Given the description of an element on the screen output the (x, y) to click on. 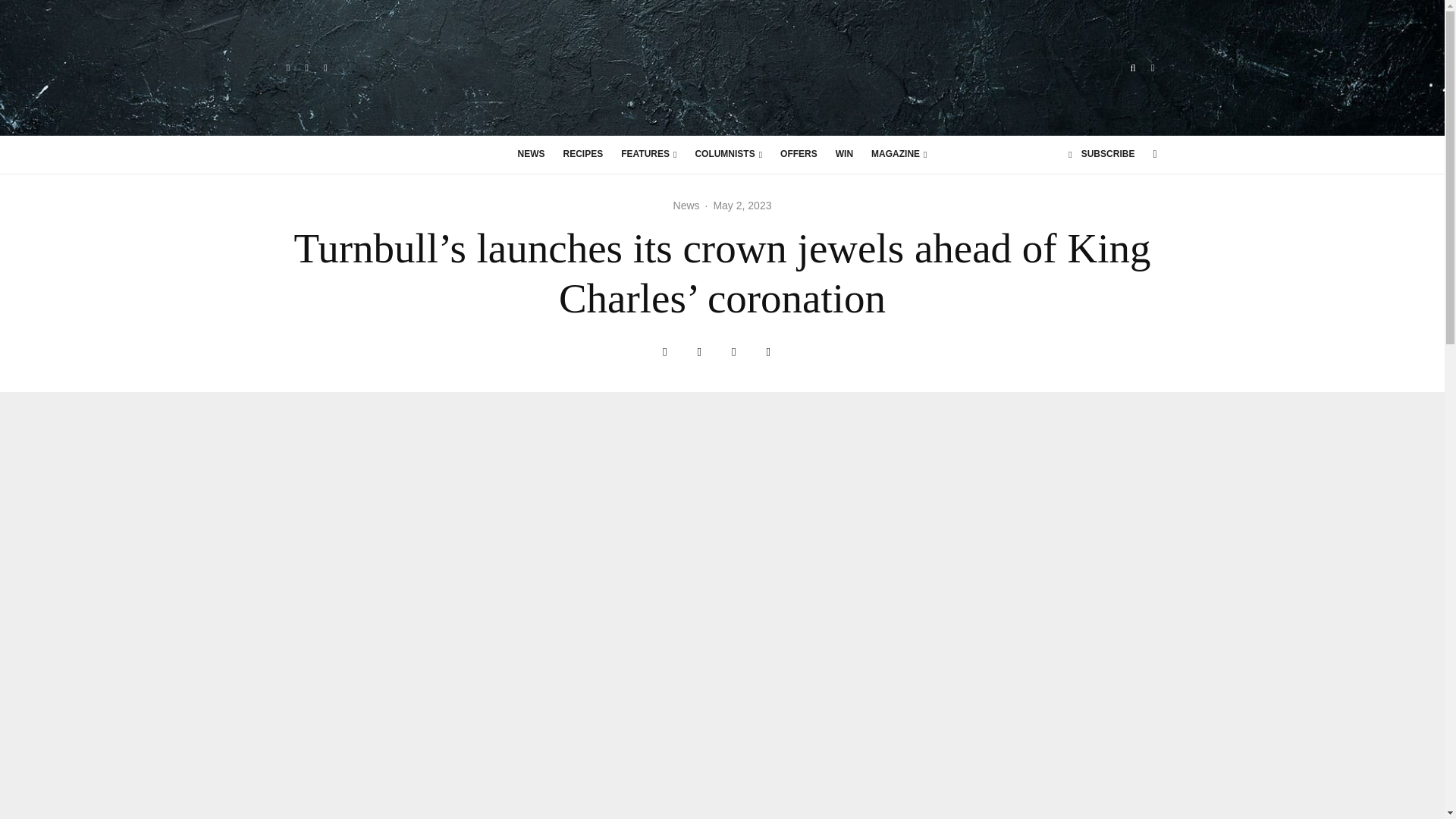
RECIPES (583, 154)
FEATURES (648, 154)
NEWS (531, 154)
